Given the description of an element on the screen output the (x, y) to click on. 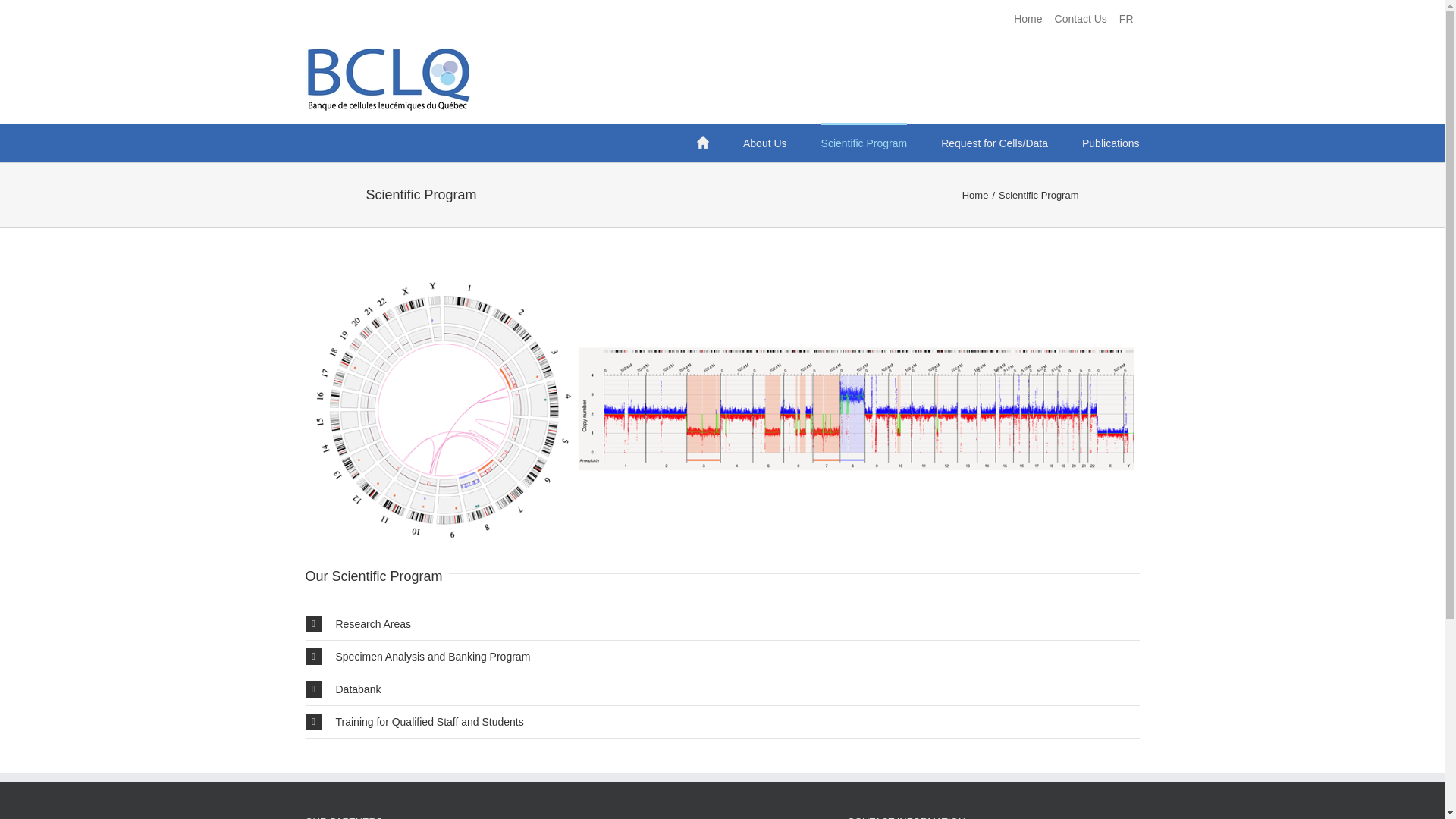
Contact Us (1080, 19)
Home (1027, 19)
Publications (1110, 141)
About Us (764, 141)
Scientific Program (864, 141)
